Given the description of an element on the screen output the (x, y) to click on. 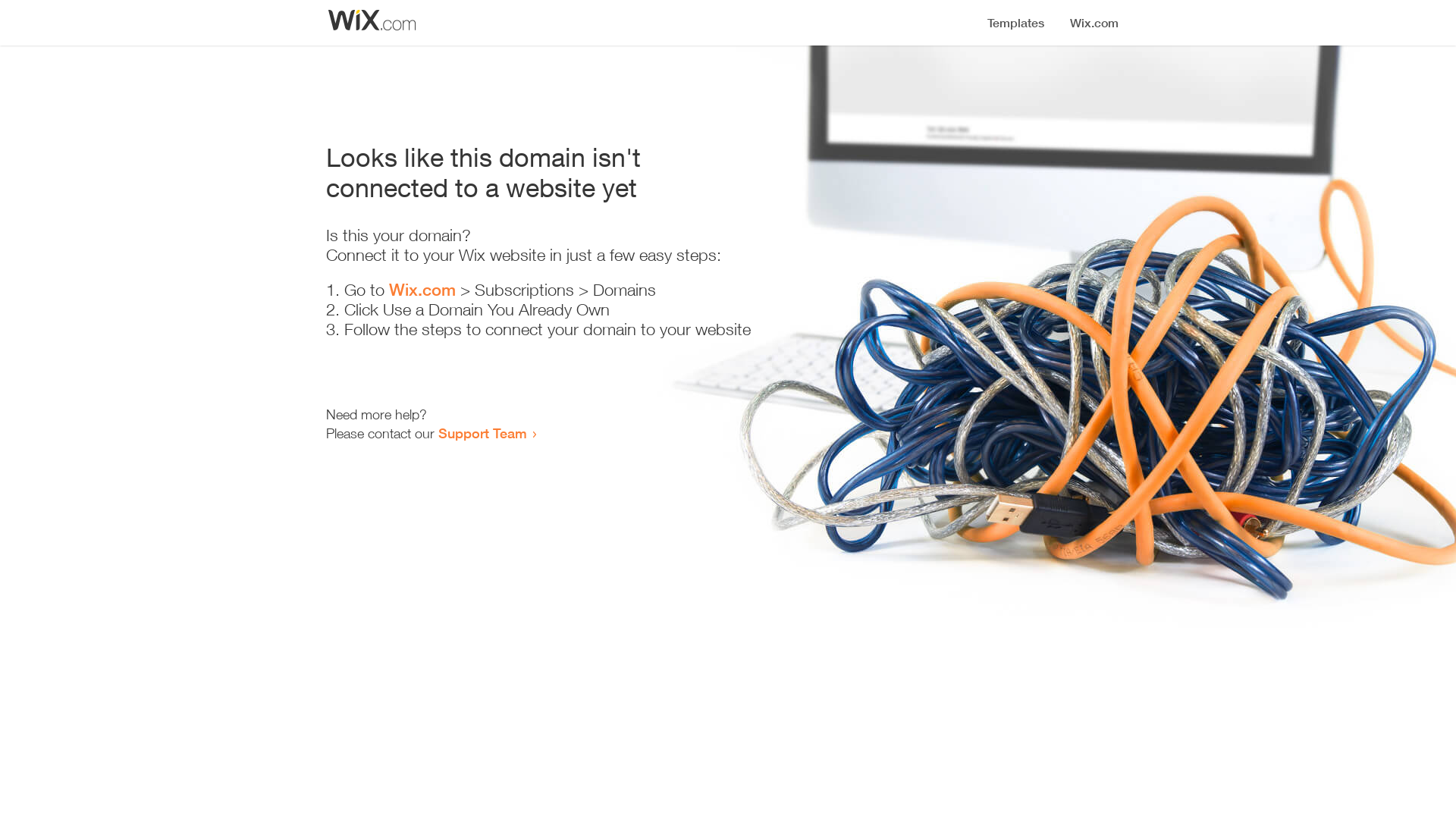
Support Team Element type: text (482, 432)
Wix.com Element type: text (422, 289)
